Given the description of an element on the screen output the (x, y) to click on. 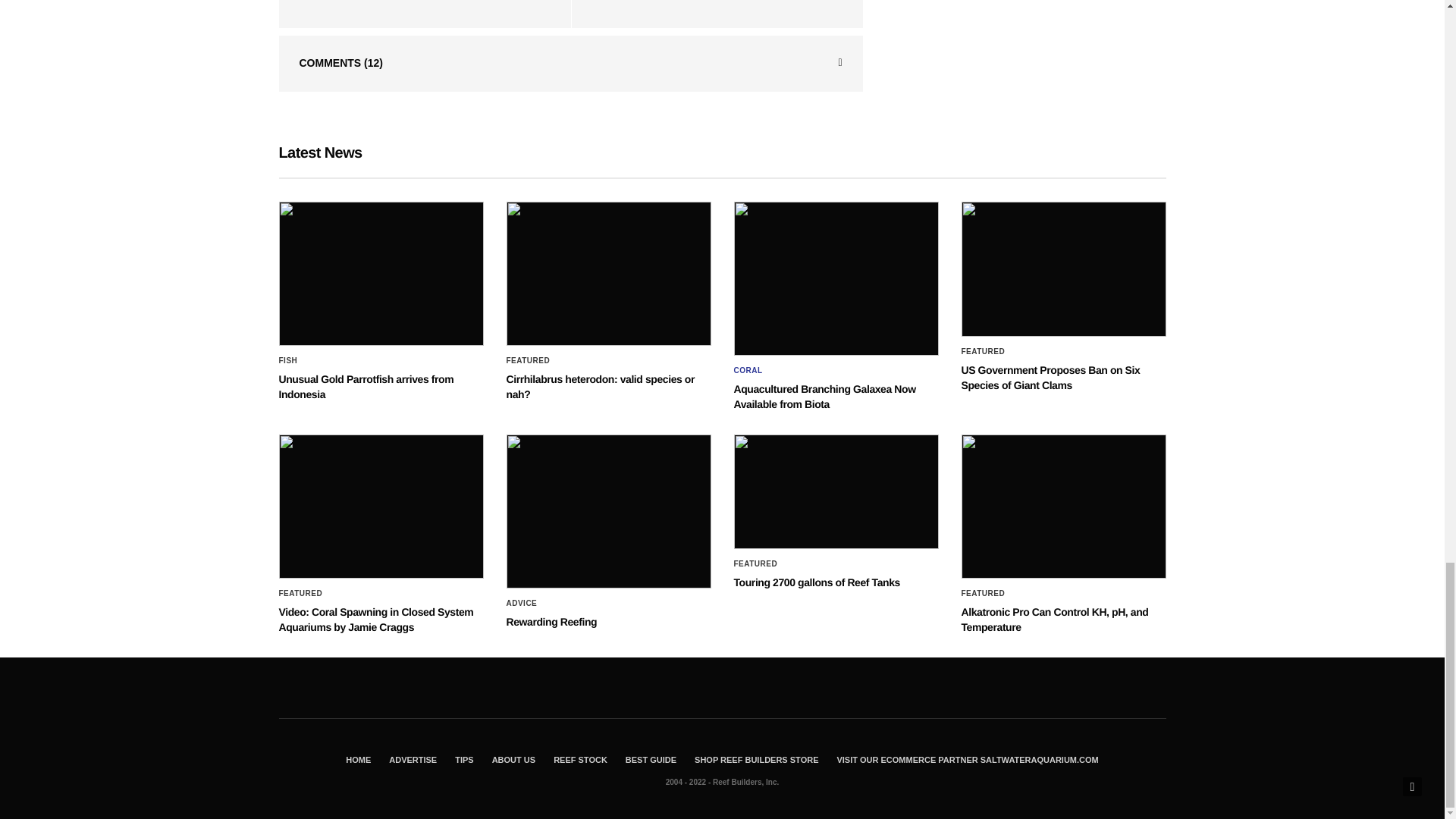
Unusual Gold Parrotfish arrives from Indonesia (381, 273)
